Given the description of an element on the screen output the (x, y) to click on. 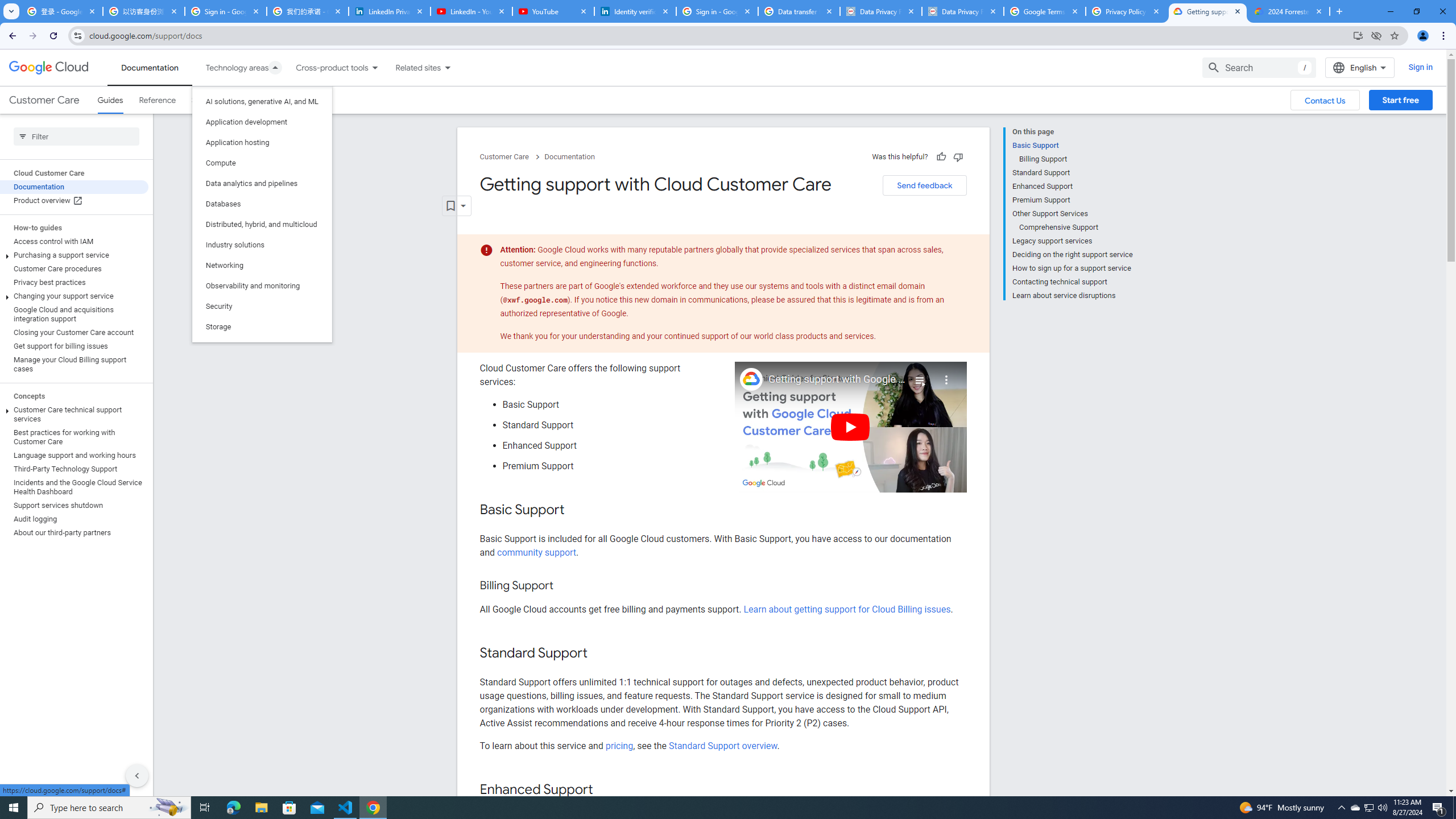
Helpful (940, 156)
Customer Care procedures (74, 269)
Search (1259, 67)
Support (205, 99)
Customer Care chevron_right (511, 156)
Copy link to this section: Billing Support (564, 585)
Technology areas (230, 67)
Not helpful (957, 156)
Learn about service disruptions (1071, 294)
